Given the description of an element on the screen output the (x, y) to click on. 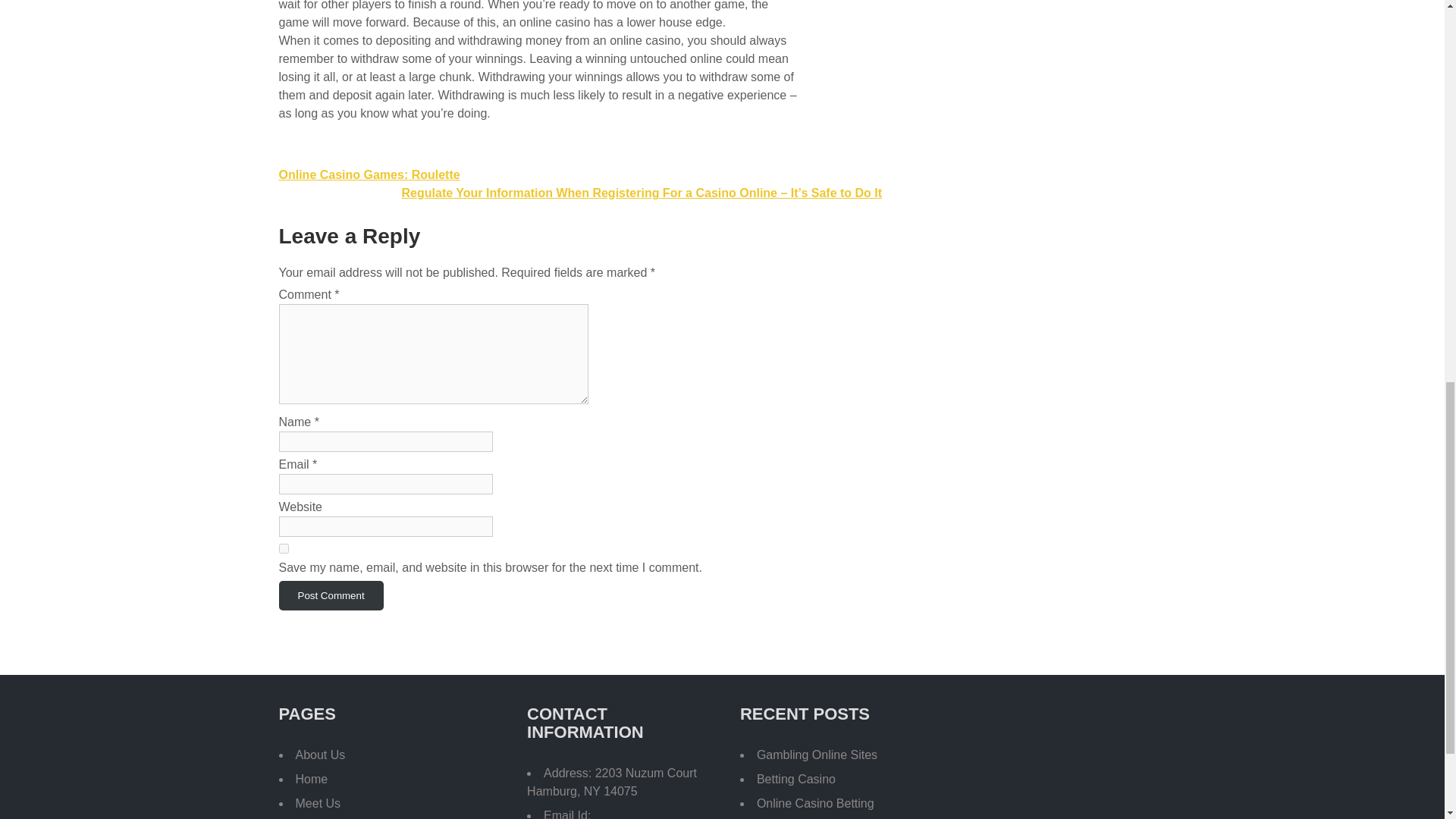
Meet Us (317, 802)
Home (312, 779)
Post Comment (331, 595)
Online Casino Games: Roulette (369, 174)
Online Casino Betting (816, 802)
Post Comment (331, 595)
yes (283, 548)
About Us (320, 754)
Gambling Online Sites (817, 754)
Betting Casino (796, 779)
